Given the description of an element on the screen output the (x, y) to click on. 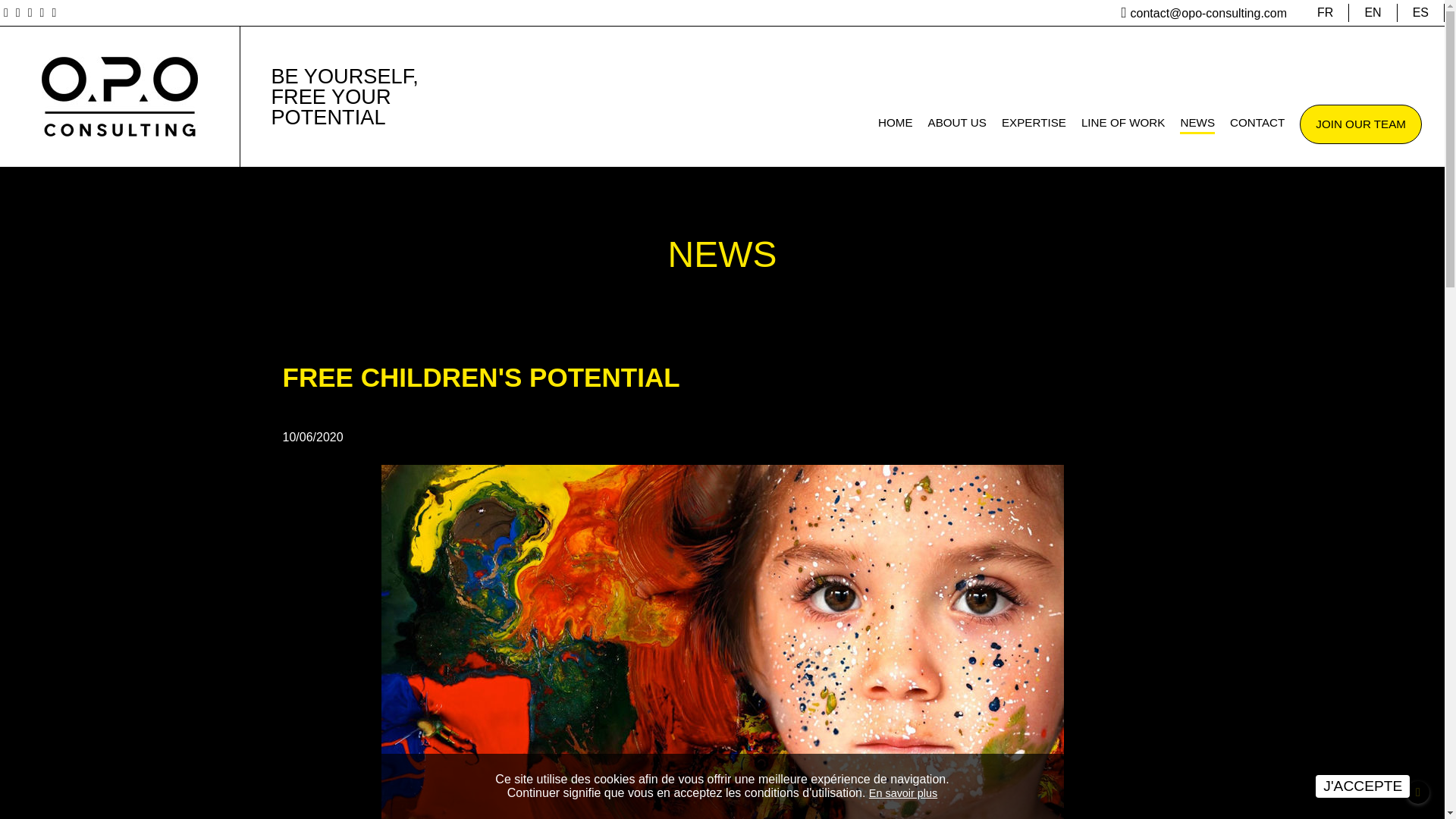
News (1196, 123)
JOIN OUR TEAM (1361, 124)
O.P.O Consulting (119, 96)
Home (894, 123)
Expertise (1033, 123)
HOME (894, 123)
EXPERTISE (1033, 123)
FR (1325, 13)
EN (1372, 13)
NEWS (1196, 123)
O.P.O Consulting (120, 96)
ABOUT US (957, 123)
En savoir plus (903, 793)
EN (1372, 13)
CONTACT (1257, 123)
